Given the description of an element on the screen output the (x, y) to click on. 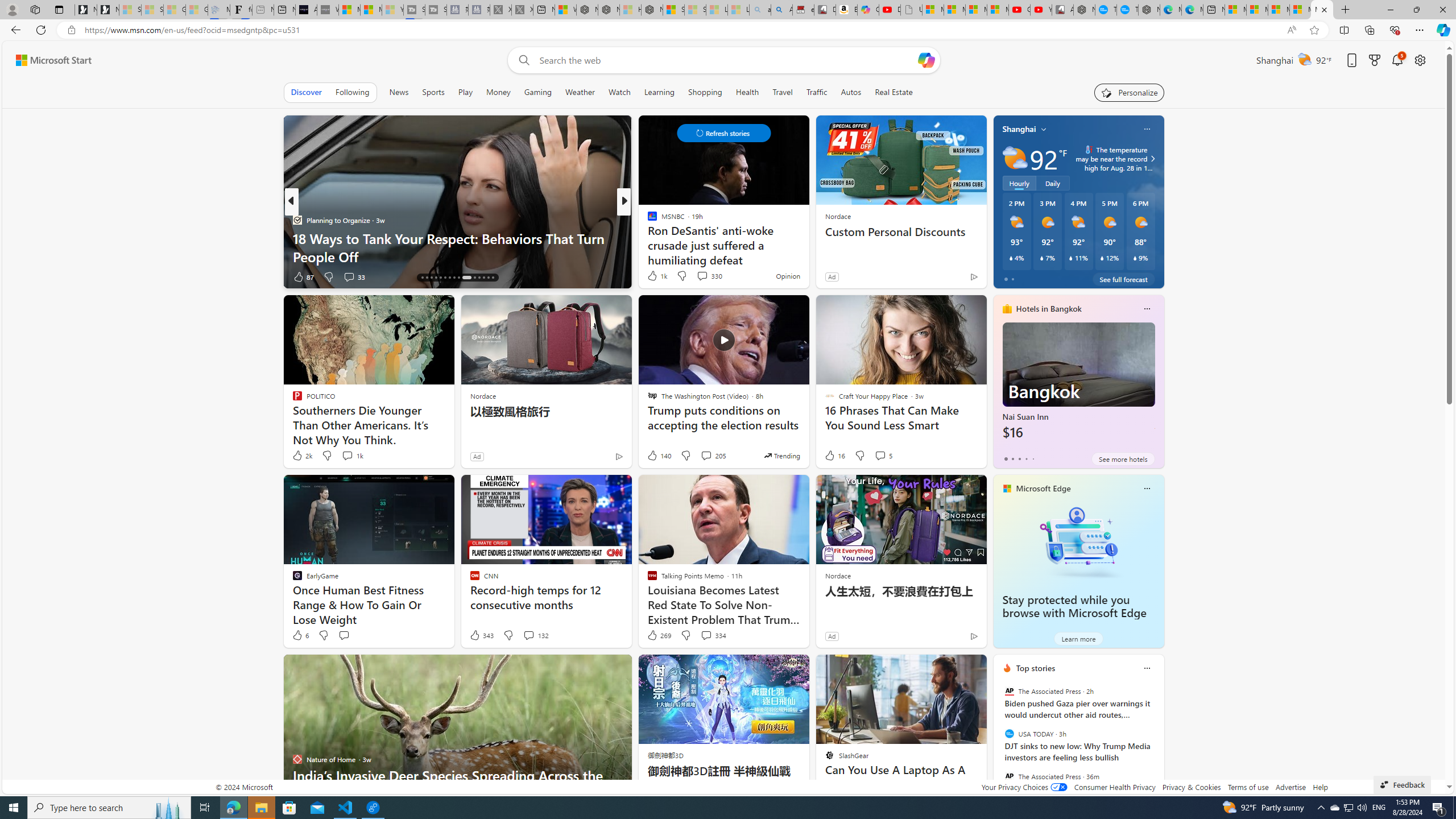
Daily (1052, 183)
Health (746, 92)
View comments 55 Comment (698, 276)
View comments 266 Comment (709, 276)
Newsletter Sign Up (107, 9)
Settings and more (Alt+F) (1419, 29)
Gaming (537, 92)
Discover (306, 92)
View comments 39 Comment (6, 276)
Ad Choice (972, 635)
Real Estate (893, 92)
16 Like (834, 455)
Weather (580, 92)
Traffic (816, 92)
